Given the description of an element on the screen output the (x, y) to click on. 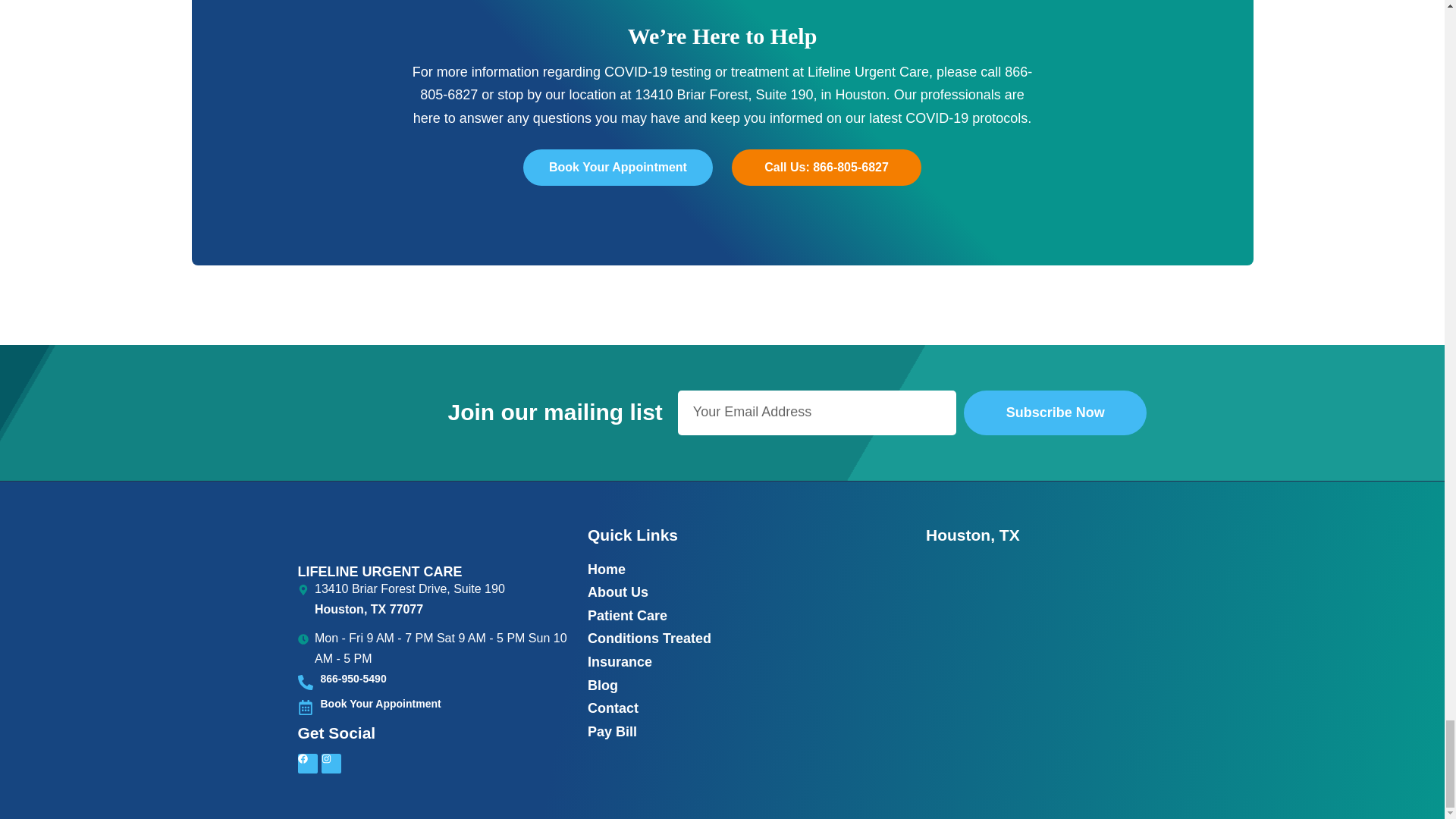
13410 Briar Forest Ste. 190 Houston, TX 77077 (1036, 640)
